Given the description of an element on the screen output the (x, y) to click on. 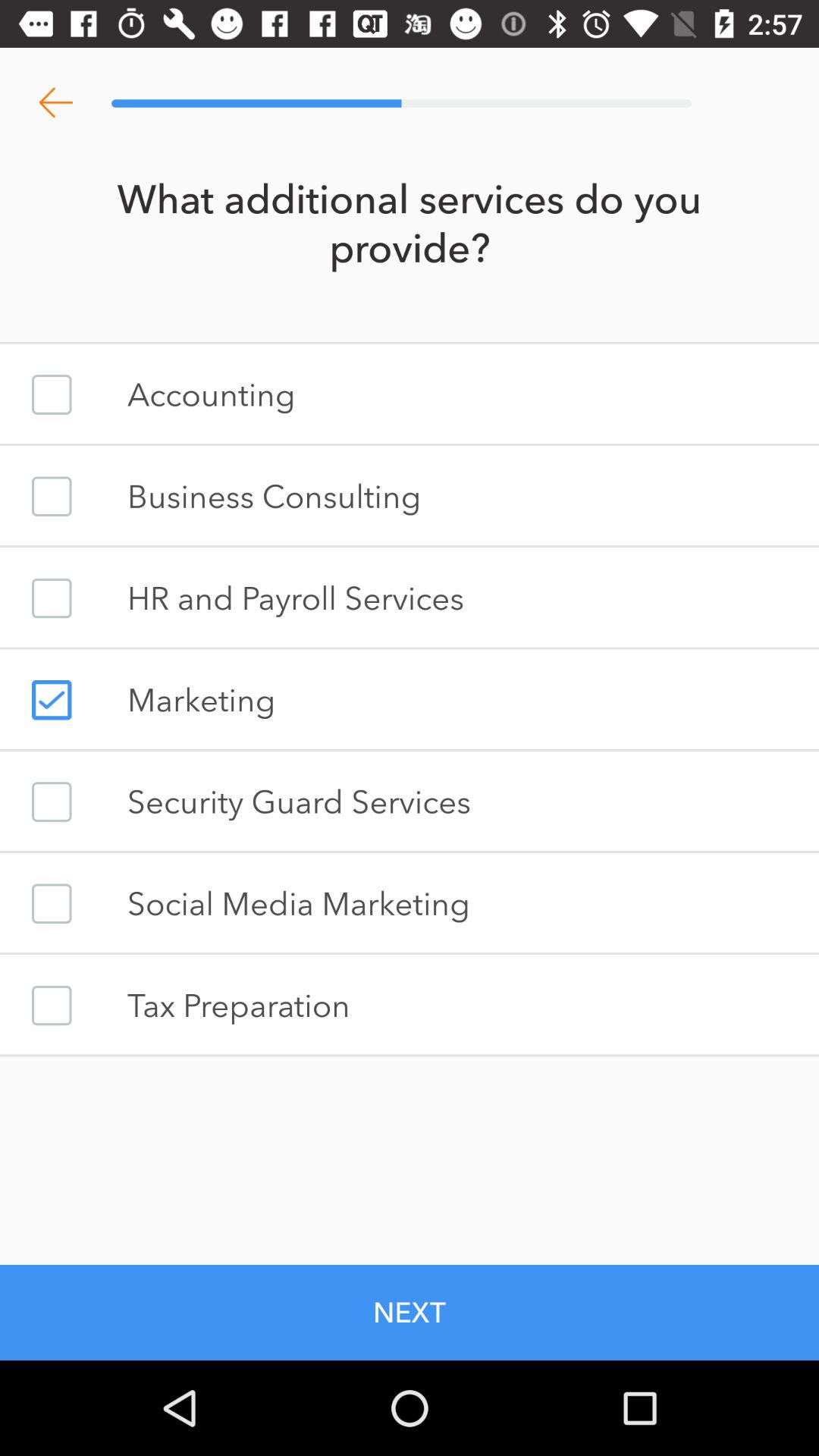
select marketing (51, 700)
